Given the description of an element on the screen output the (x, y) to click on. 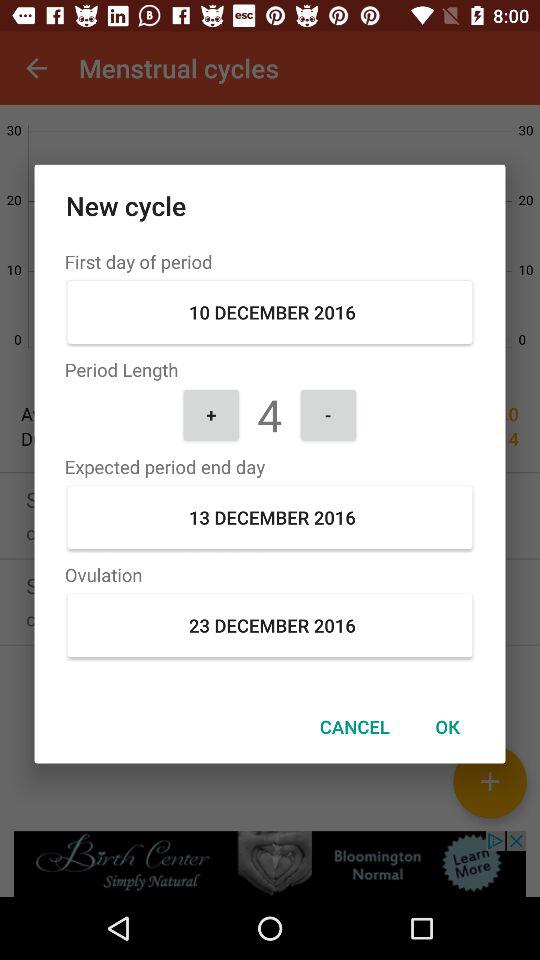
flip to + icon (211, 414)
